Given the description of an element on the screen output the (x, y) to click on. 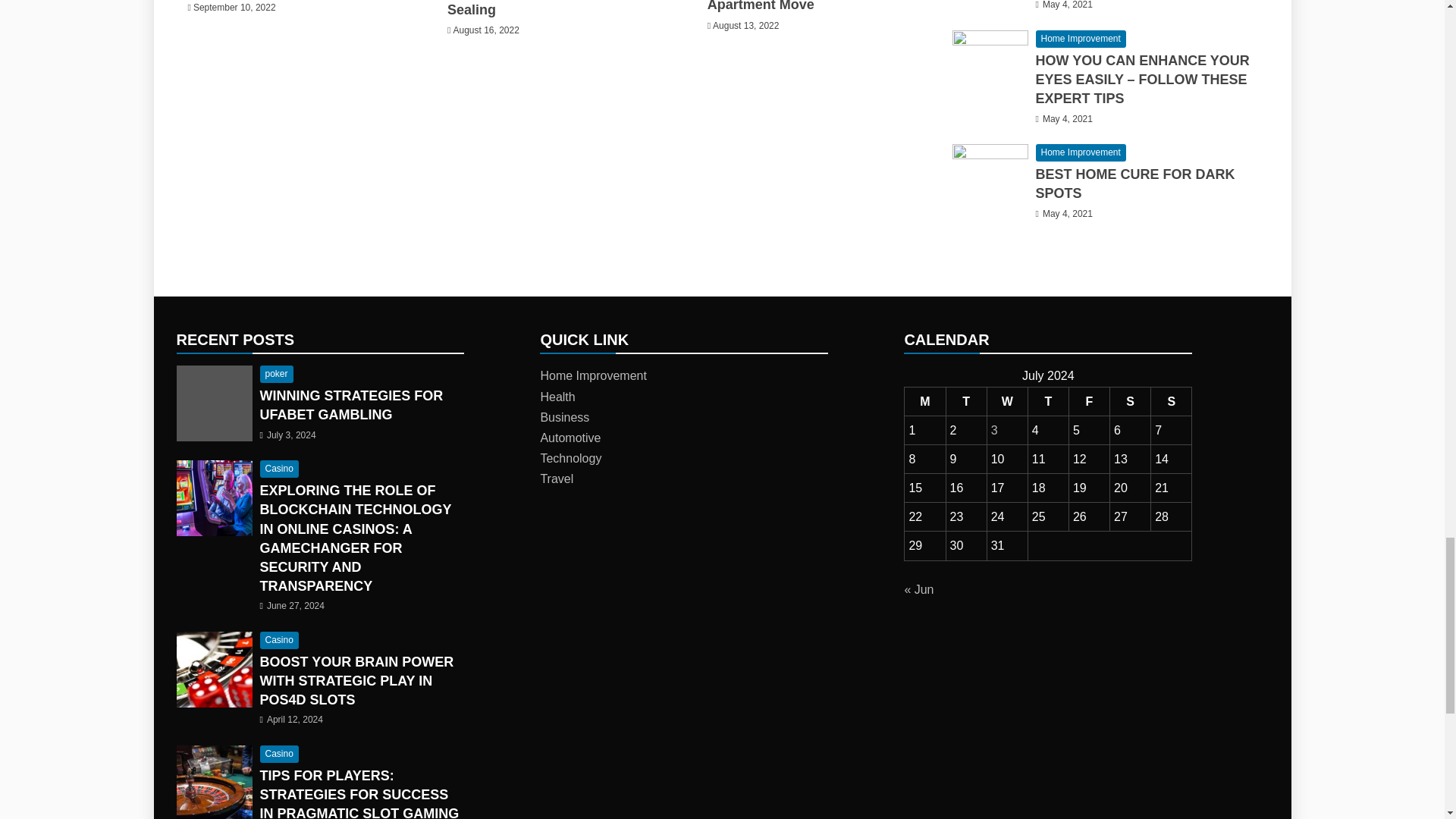
August 16, 2022 (485, 30)
Friday (1088, 400)
Sunday (1171, 400)
Monday (924, 400)
Wednesday (1007, 400)
September 10, 2022 (234, 7)
Things to keep in mind regarding Stone Polishing and Sealing (545, 8)
Thursday (1047, 400)
Saturday (1130, 400)
Tuesday (965, 400)
